Given the description of an element on the screen output the (x, y) to click on. 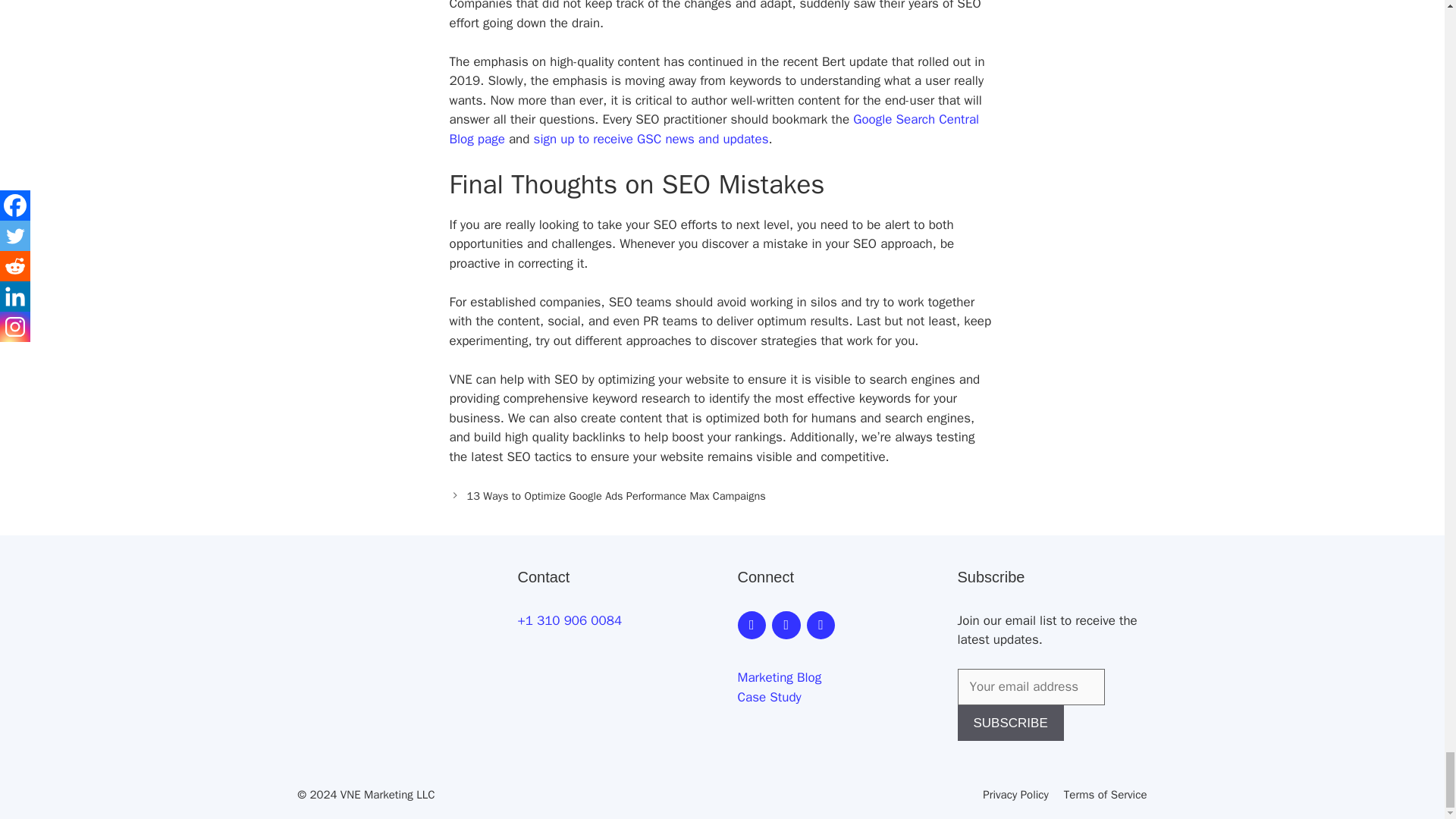
13 Ways to Optimize Google Ads Performance Max Campaigns (616, 495)
sign up to receive GSC news and updates (651, 139)
LinkedIn (785, 624)
Contact (750, 624)
Google Search Central Blog page (713, 129)
Twitter (820, 624)
Subscribe (1009, 723)
